Given the description of an element on the screen output the (x, y) to click on. 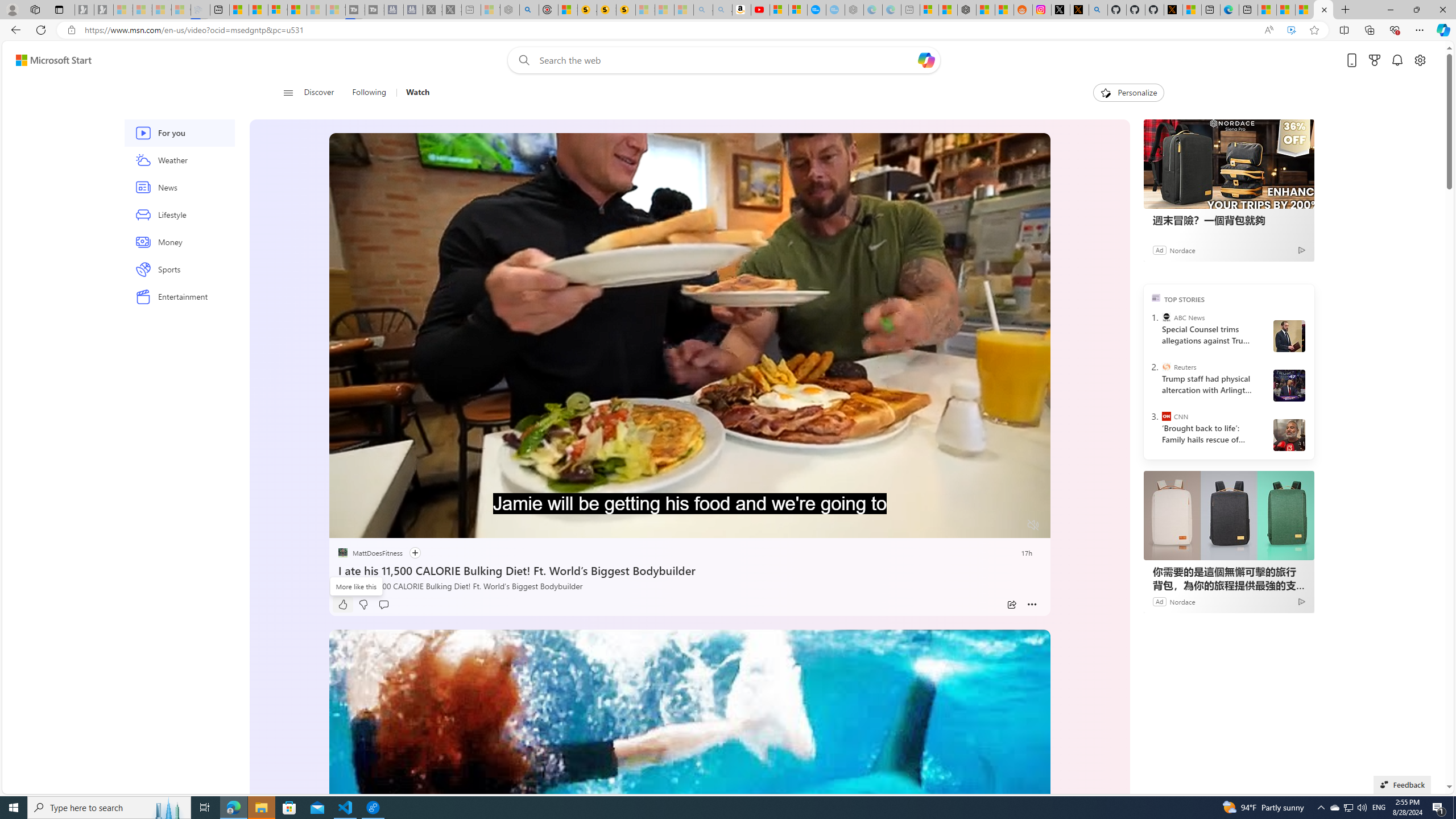
Ad (1158, 601)
Nordace - Duffels (966, 9)
Open settings (1420, 60)
Log in to X / X (1060, 9)
More (1031, 604)
Follow (414, 553)
Microsoft account | Microsoft Account Privacy Settings (929, 9)
